Given the description of an element on the screen output the (x, y) to click on. 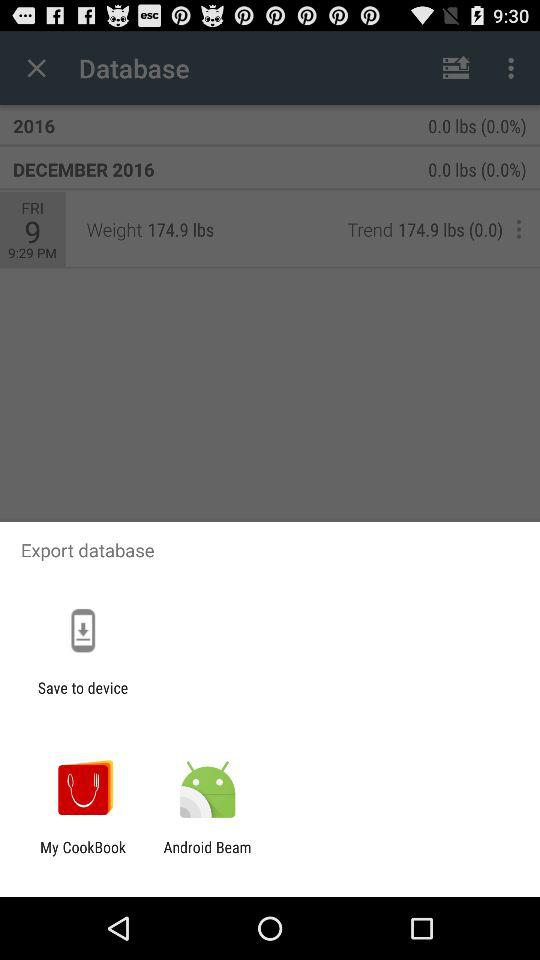
press app next to android beam (83, 856)
